Given the description of an element on the screen output the (x, y) to click on. 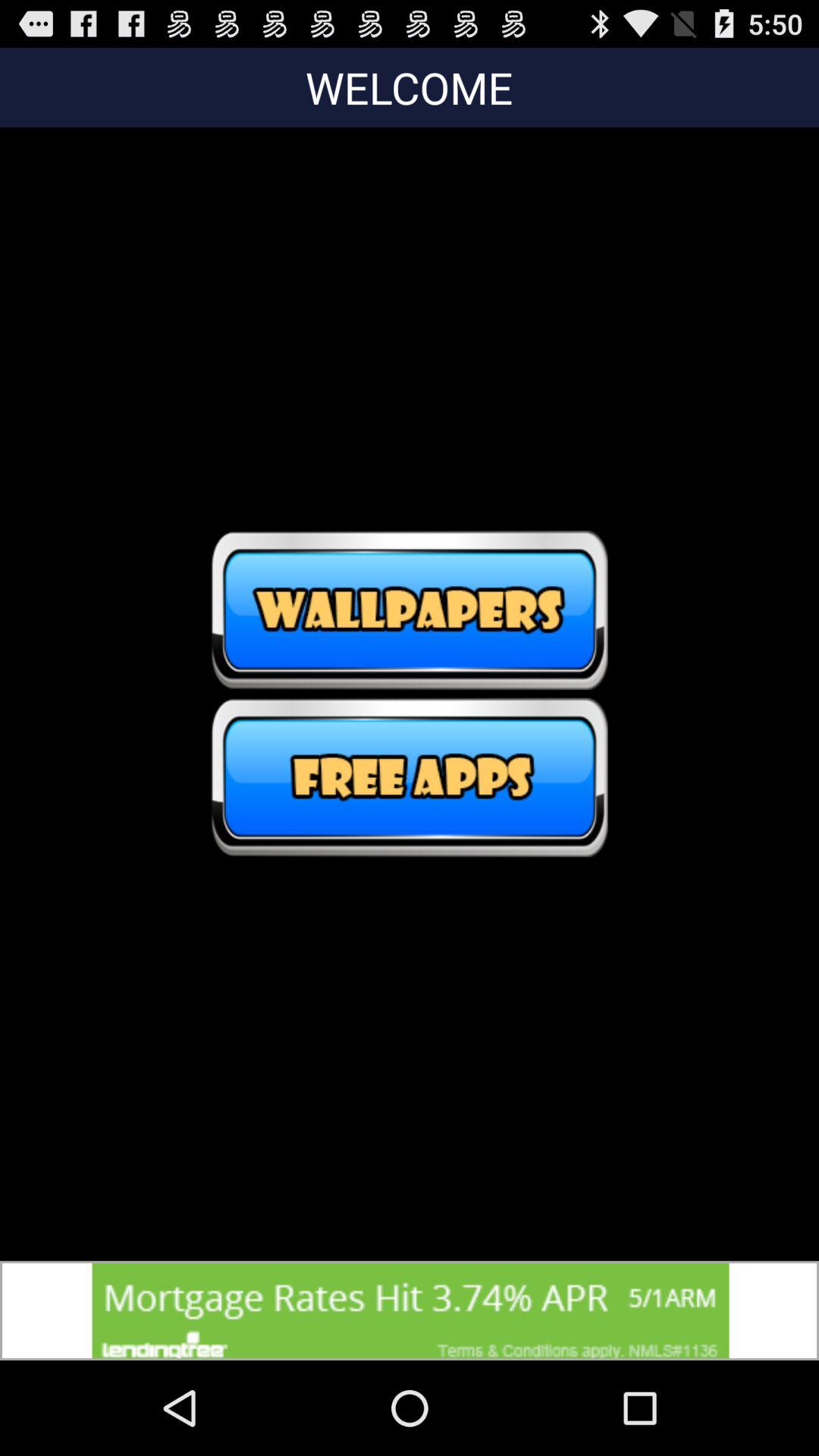
link button (409, 777)
